Given the description of an element on the screen output the (x, y) to click on. 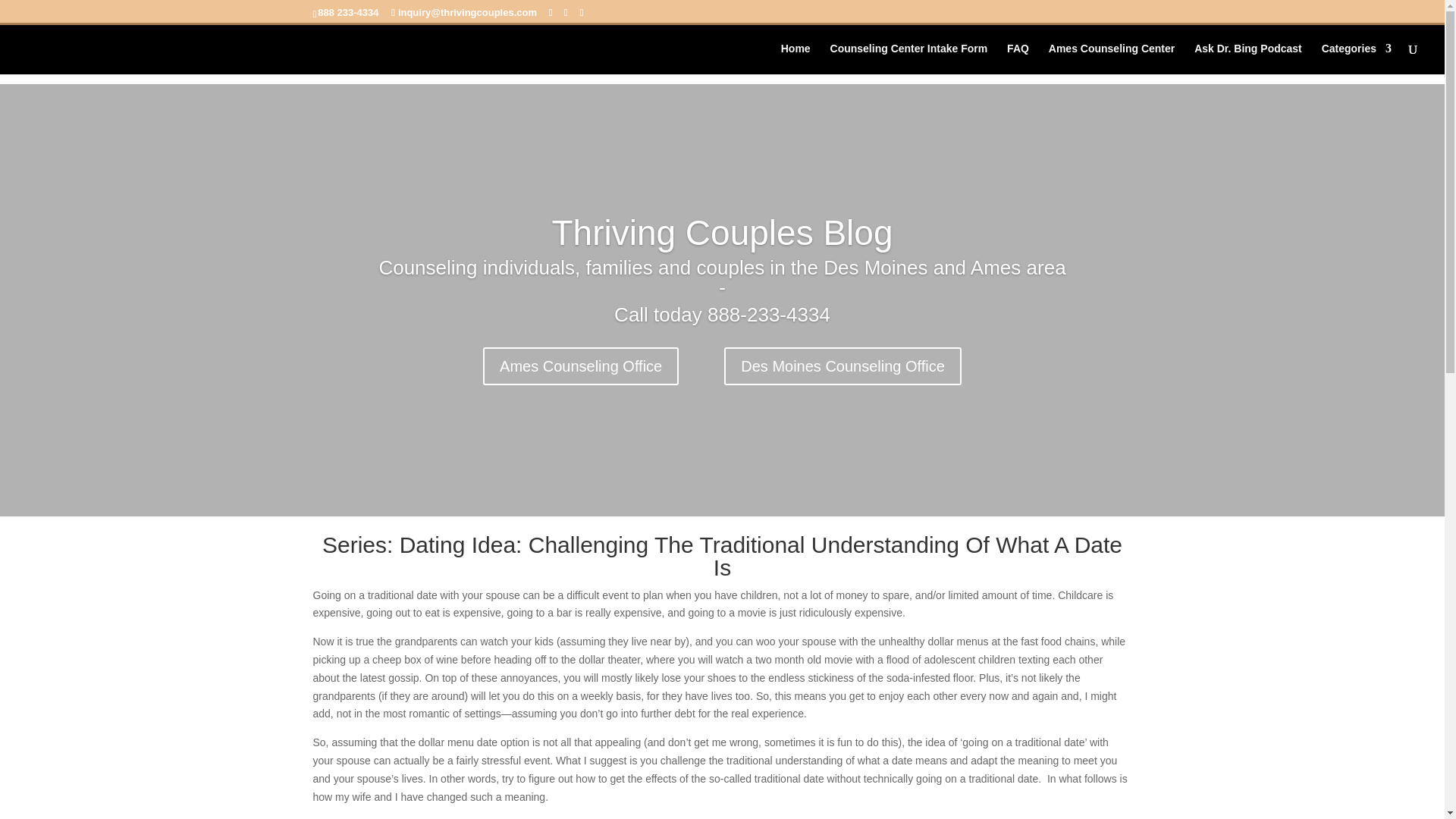
Ask Dr. Bing Podcast (1247, 58)
Ames Counseling Center (1111, 58)
Ames Counseling Office (580, 365)
Categories (1356, 58)
Counseling Center Intake Form (908, 58)
Home (795, 58)
Des Moines Counseling Office (841, 365)
